Given the description of an element on the screen output the (x, y) to click on. 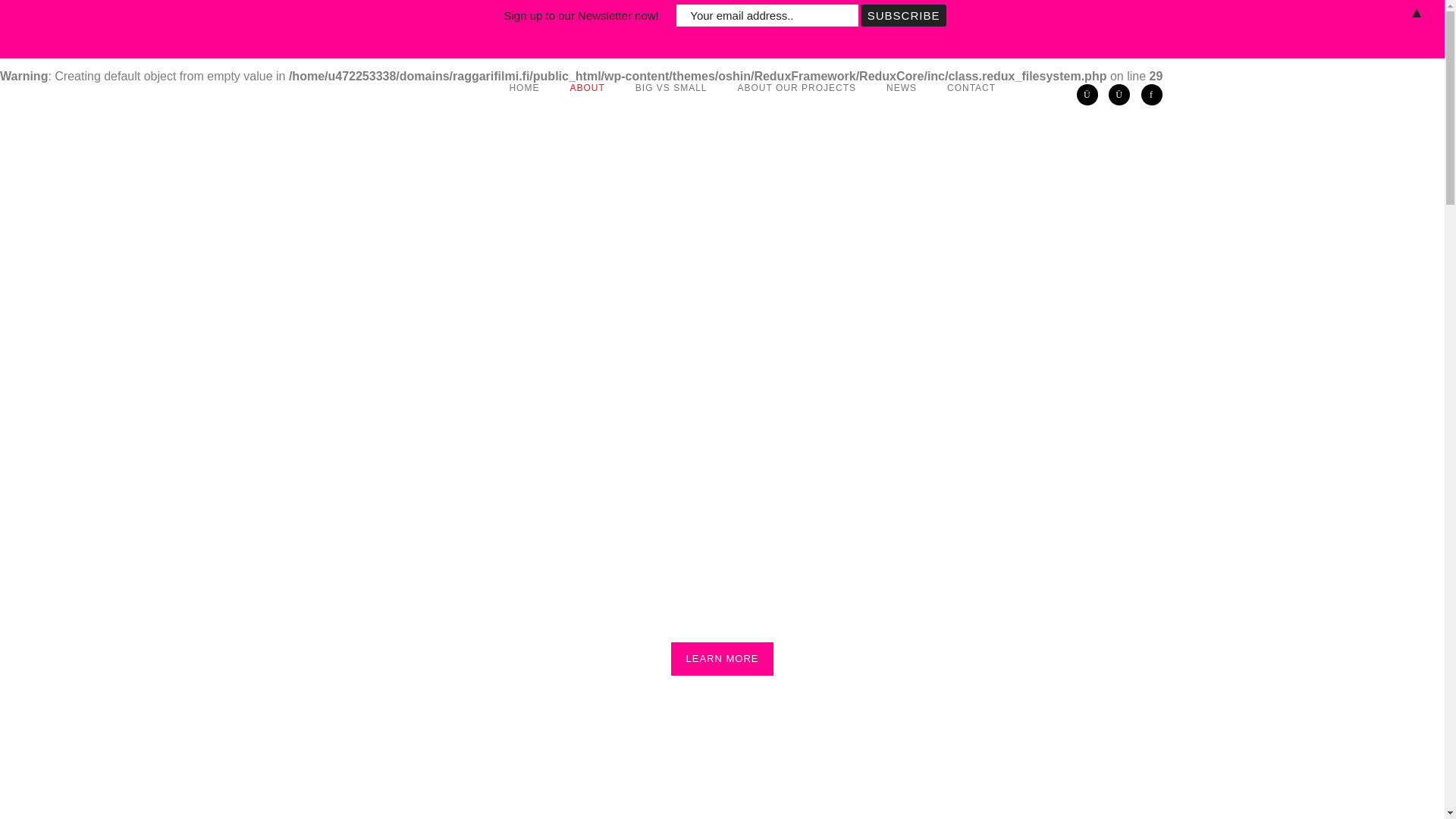
ABOUT (587, 87)
News (900, 87)
NEWS (900, 87)
Subscribe (903, 15)
LEARN MORE (722, 658)
ABOUT OUR PROJECTS (796, 87)
About Our Projects (796, 87)
CONTACT (970, 87)
COntact (970, 87)
HOME (523, 87)
HOME (523, 87)
BIG VS SMALL (671, 87)
Subscribe (903, 15)
BIG vs SMALL (671, 87)
ABOUT (587, 87)
